Given the description of an element on the screen output the (x, y) to click on. 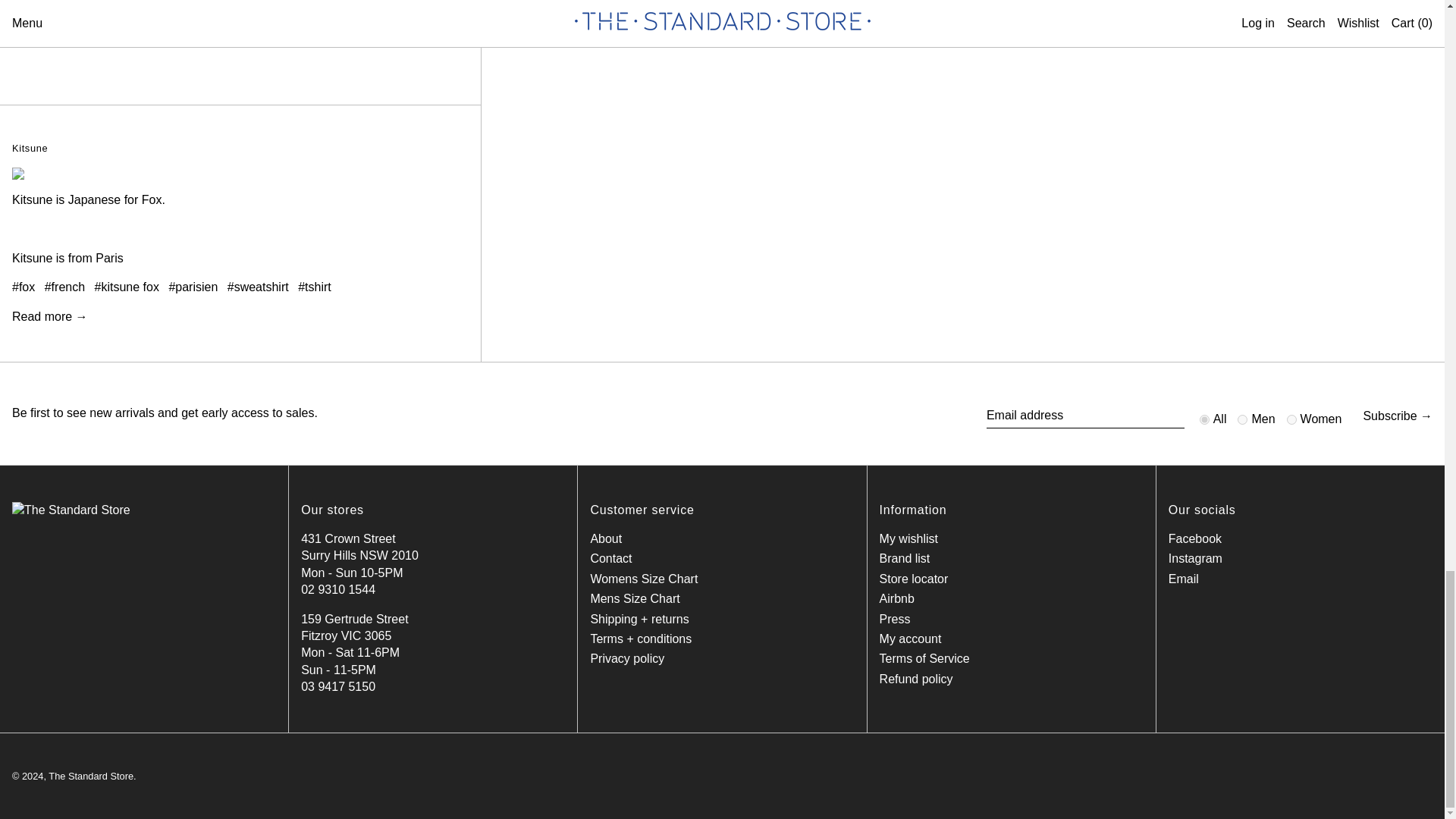
All (1204, 419)
Mens (1242, 419)
Womens (1292, 419)
